Given the description of an element on the screen output the (x, y) to click on. 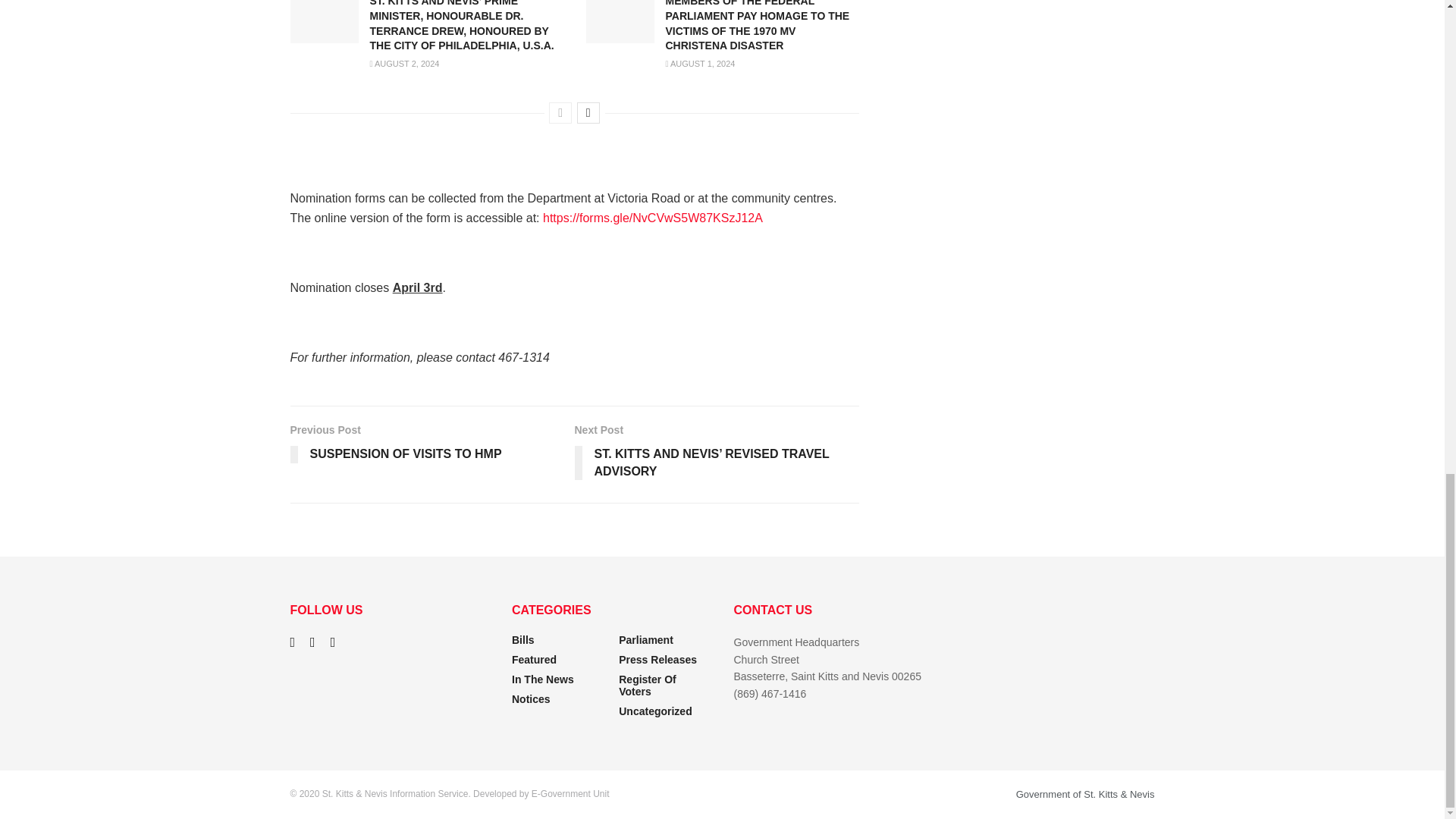
AUGUST 1, 2024 (700, 62)
Next (587, 112)
AUGUST 2, 2024 (404, 62)
Previous (560, 112)
